Given the description of an element on the screen output the (x, y) to click on. 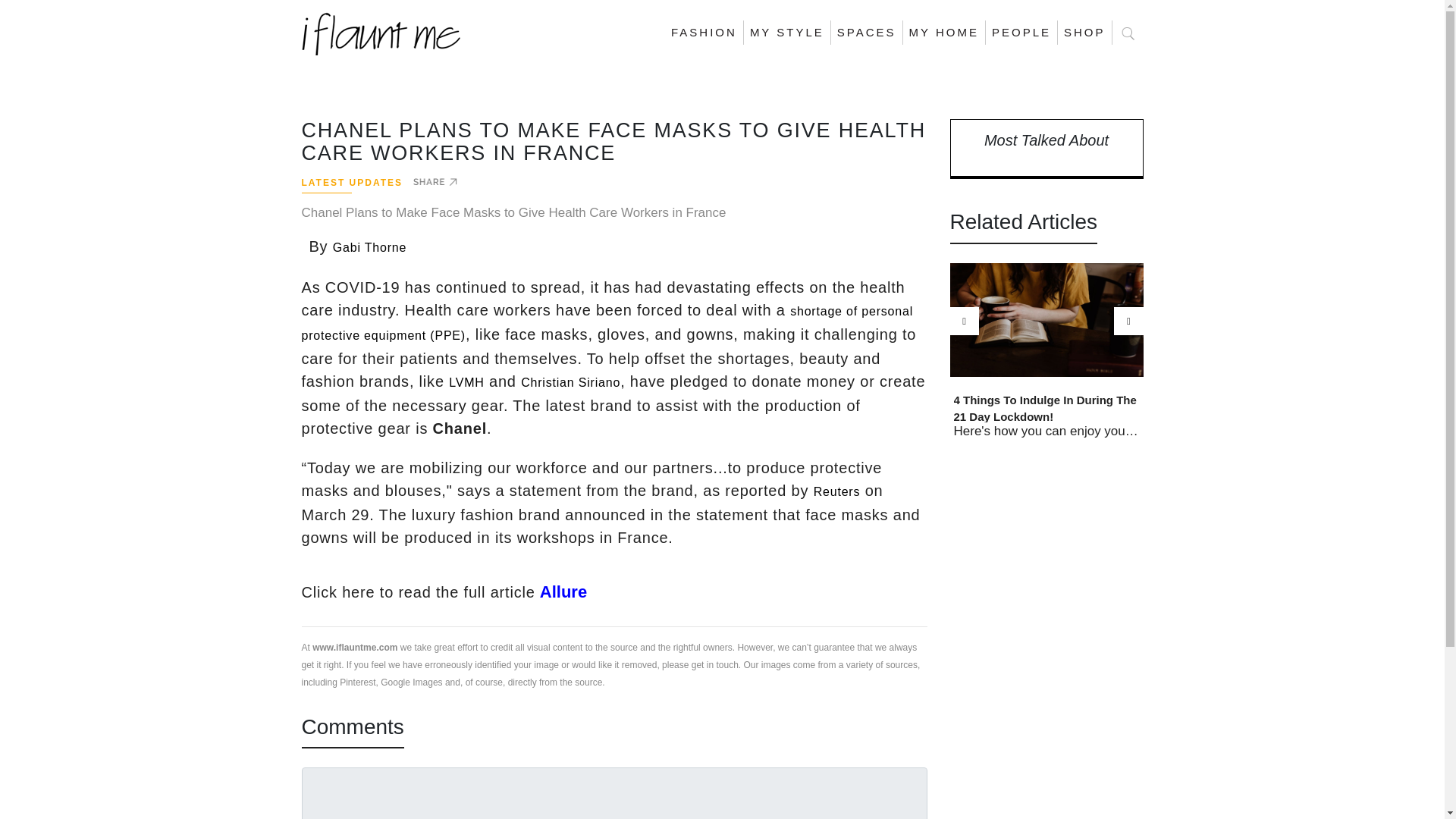
www.iflauntme.com (355, 646)
SHOP (1085, 32)
Gabi Thorne (369, 246)
MY HOME (943, 32)
LVMH (465, 382)
FASHION (703, 32)
Allure (560, 591)
Reuters (836, 491)
PEOPLE (1021, 32)
Christian Siriano (570, 382)
MY STYLE (786, 32)
SPACES (866, 32)
4 Things To Indulge In During The 21 Day Lockdown! (1046, 407)
